Given the description of an element on the screen output the (x, y) to click on. 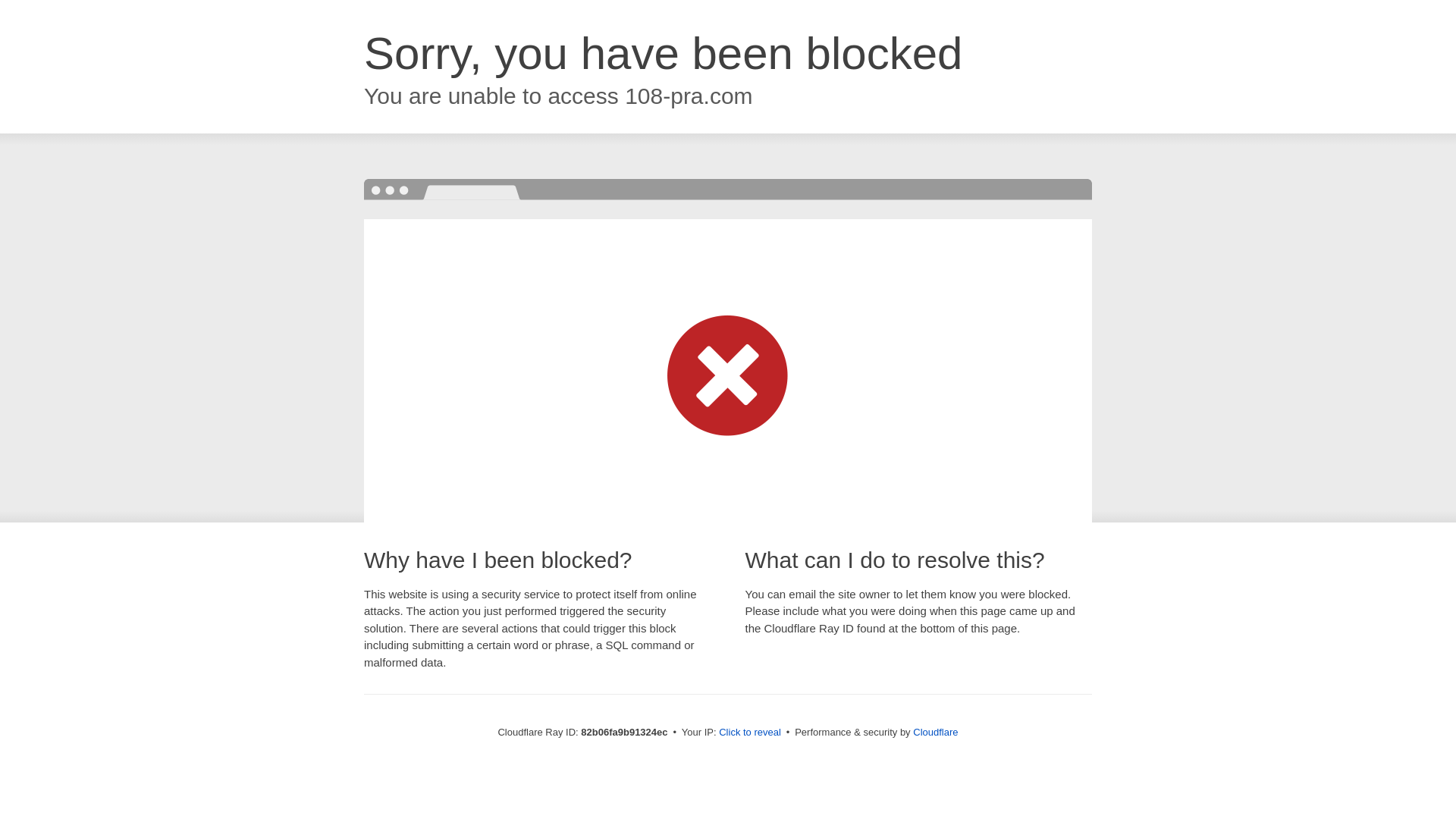
Click to reveal Element type: text (749, 732)
Cloudflare Element type: text (935, 731)
